Given the description of an element on the screen output the (x, y) to click on. 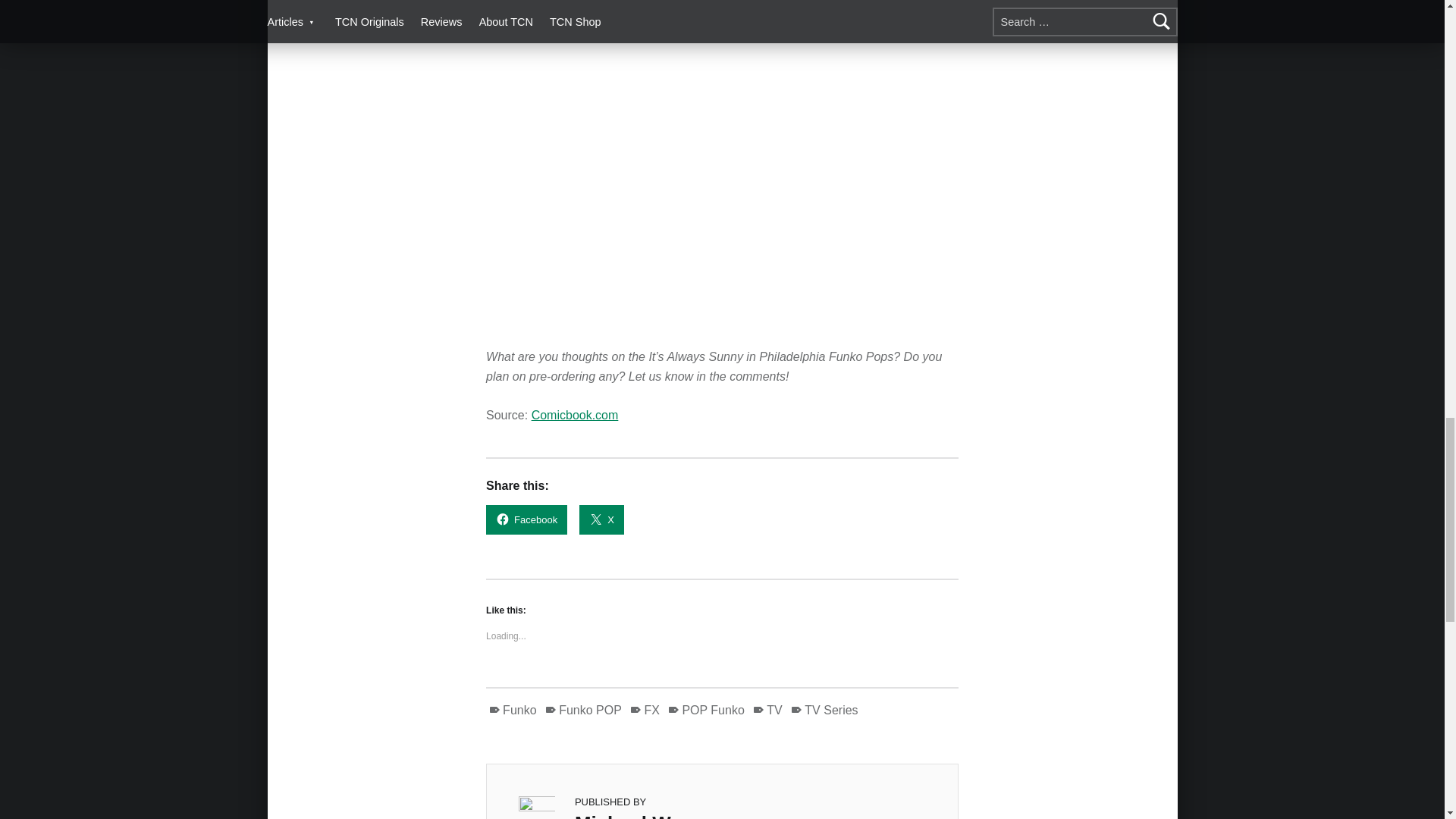
X (601, 519)
Funko POP (582, 709)
Facebook (526, 519)
Comicbook.com (574, 414)
Funko (512, 709)
Click to share on Facebook (526, 519)
Click to share on X (601, 519)
FX (643, 709)
